Given the description of an element on the screen output the (x, y) to click on. 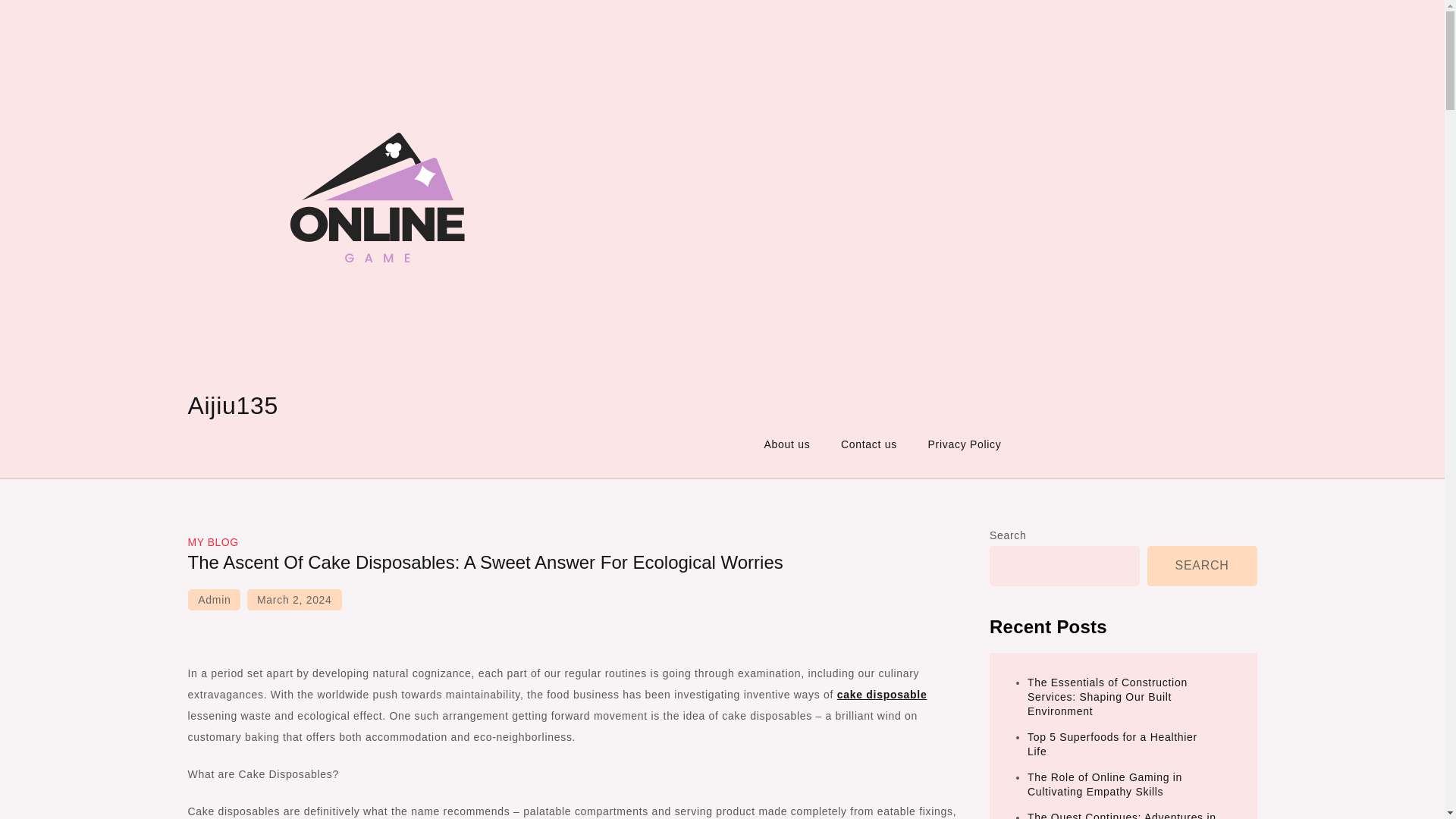
The Role of Online Gaming in Cultivating Empathy Skills (1104, 784)
cake disposable (882, 694)
Aijiu135 (232, 405)
About us (787, 444)
Privacy Policy (964, 444)
MY BLOG (212, 541)
SEARCH (1202, 566)
Top 5 Superfoods for a Healthier Life (1111, 744)
The Quest Continues: Adventures in Gaming (1121, 815)
March 2, 2024 (294, 599)
Admin (213, 599)
Contact us (869, 444)
